Given the description of an element on the screen output the (x, y) to click on. 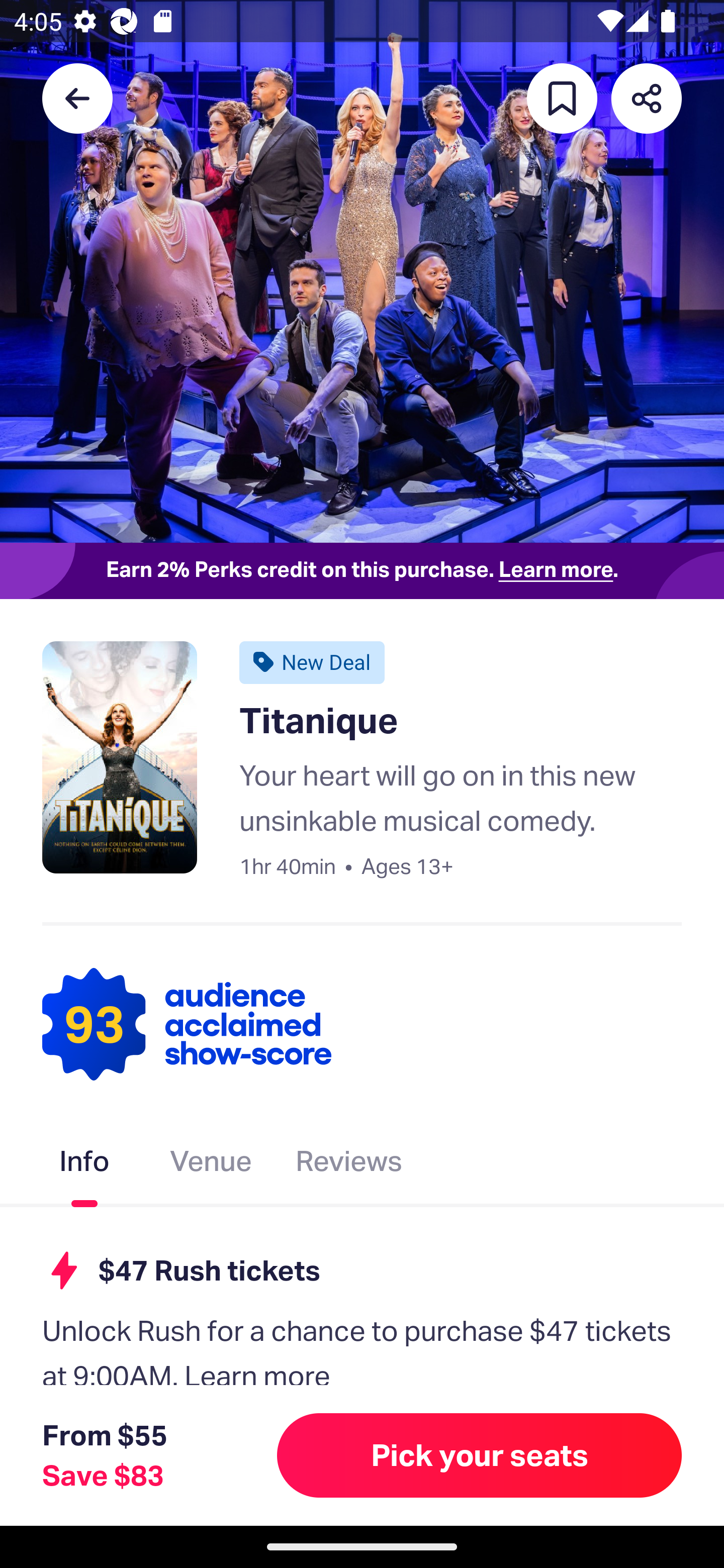
Earn 2% Perks credit on this purchase. Learn more. (362, 570)
Venue (210, 1164)
Reviews (348, 1164)
Pick your seats (479, 1454)
